Given the description of an element on the screen output the (x, y) to click on. 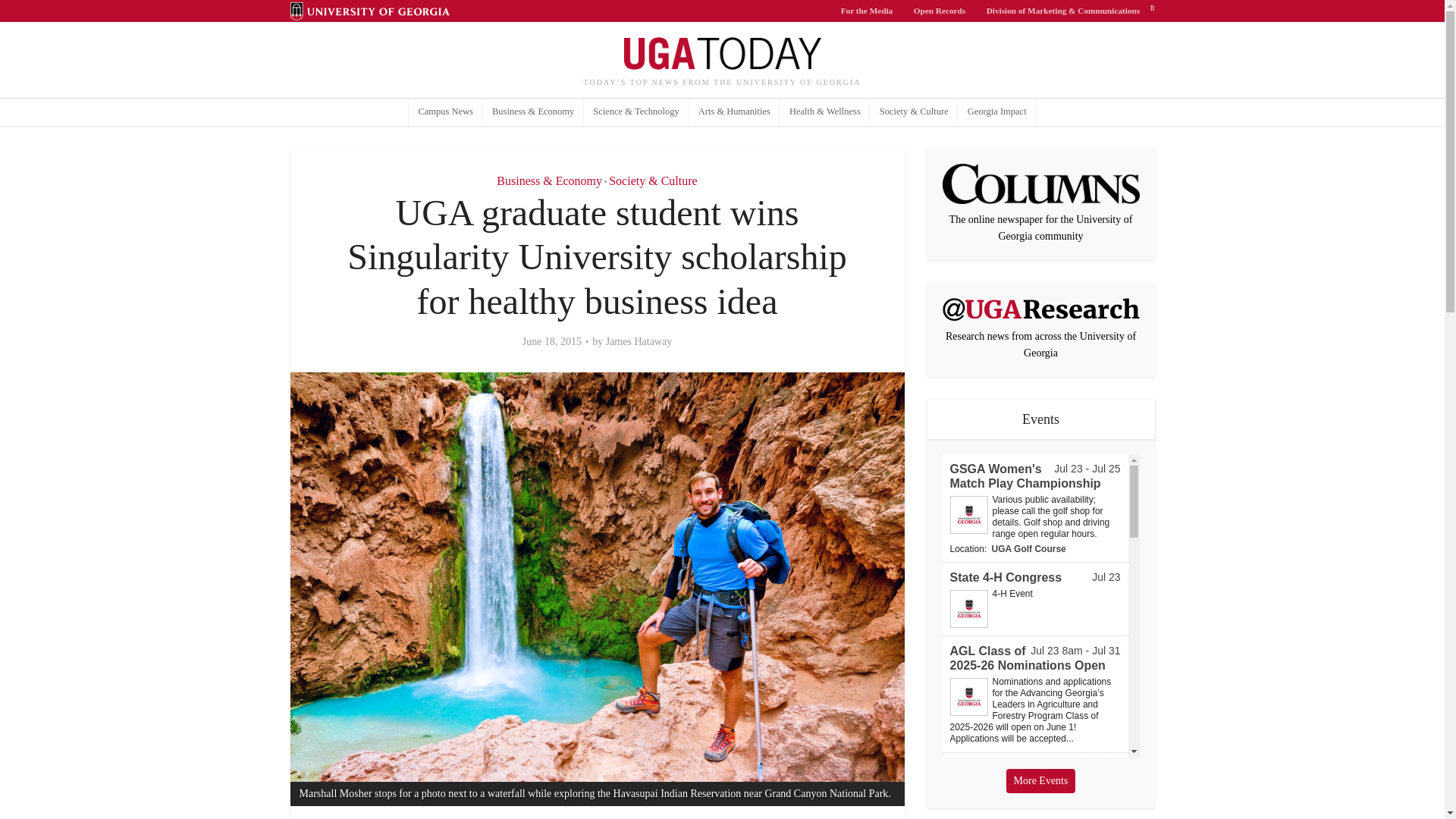
Open Records (939, 10)
Georgia Impact (996, 112)
James Hataway (638, 341)
Campus News (446, 112)
For the Media (866, 10)
